Given the description of an element on the screen output the (x, y) to click on. 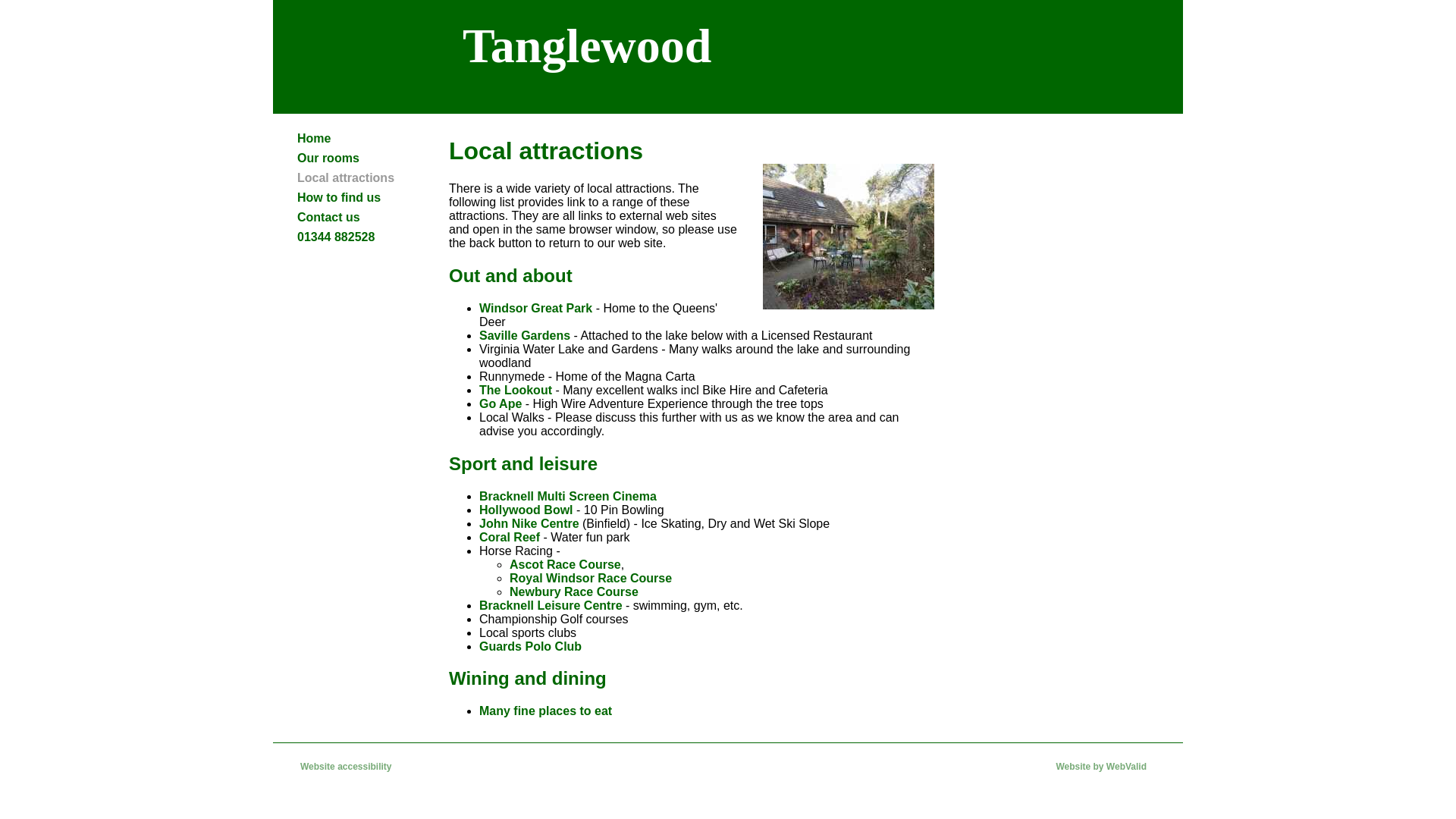
Saville Gardens (524, 335)
The Lookout (515, 390)
Home (358, 138)
Coral Reef (509, 536)
01344 882528 (358, 237)
Windsor Great Park (535, 308)
Hollywood Bowl (526, 509)
Contact us (358, 217)
Go Ape (500, 403)
Newbury Race Course (574, 591)
John Nike Centre (529, 522)
Ascot Race Course (565, 563)
Guards Polo Club (529, 645)
Many fine places to eat (545, 710)
Guards Polo Club (529, 645)
